Given the description of an element on the screen output the (x, y) to click on. 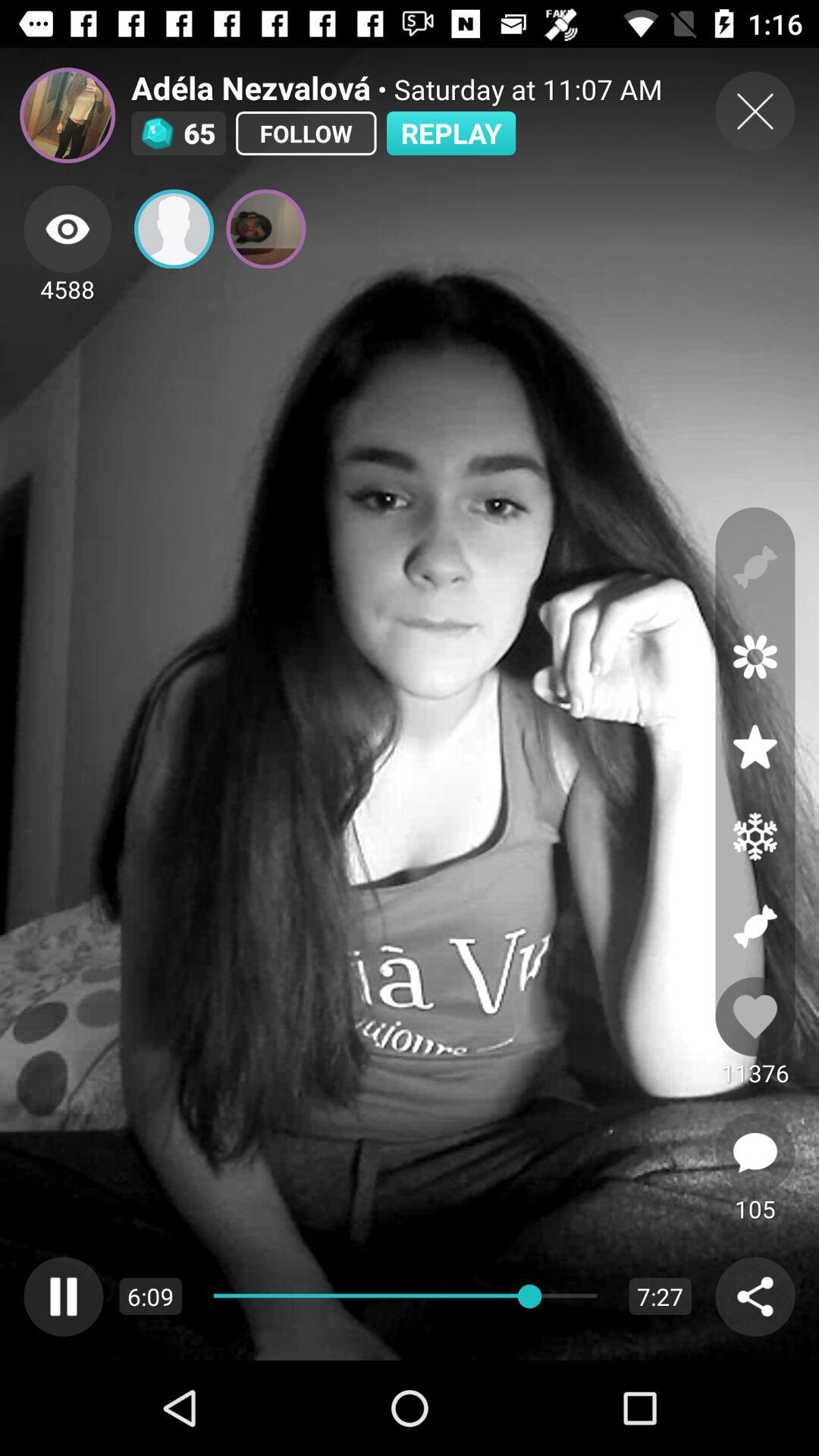
picture (265, 229)
